Given the description of an element on the screen output the (x, y) to click on. 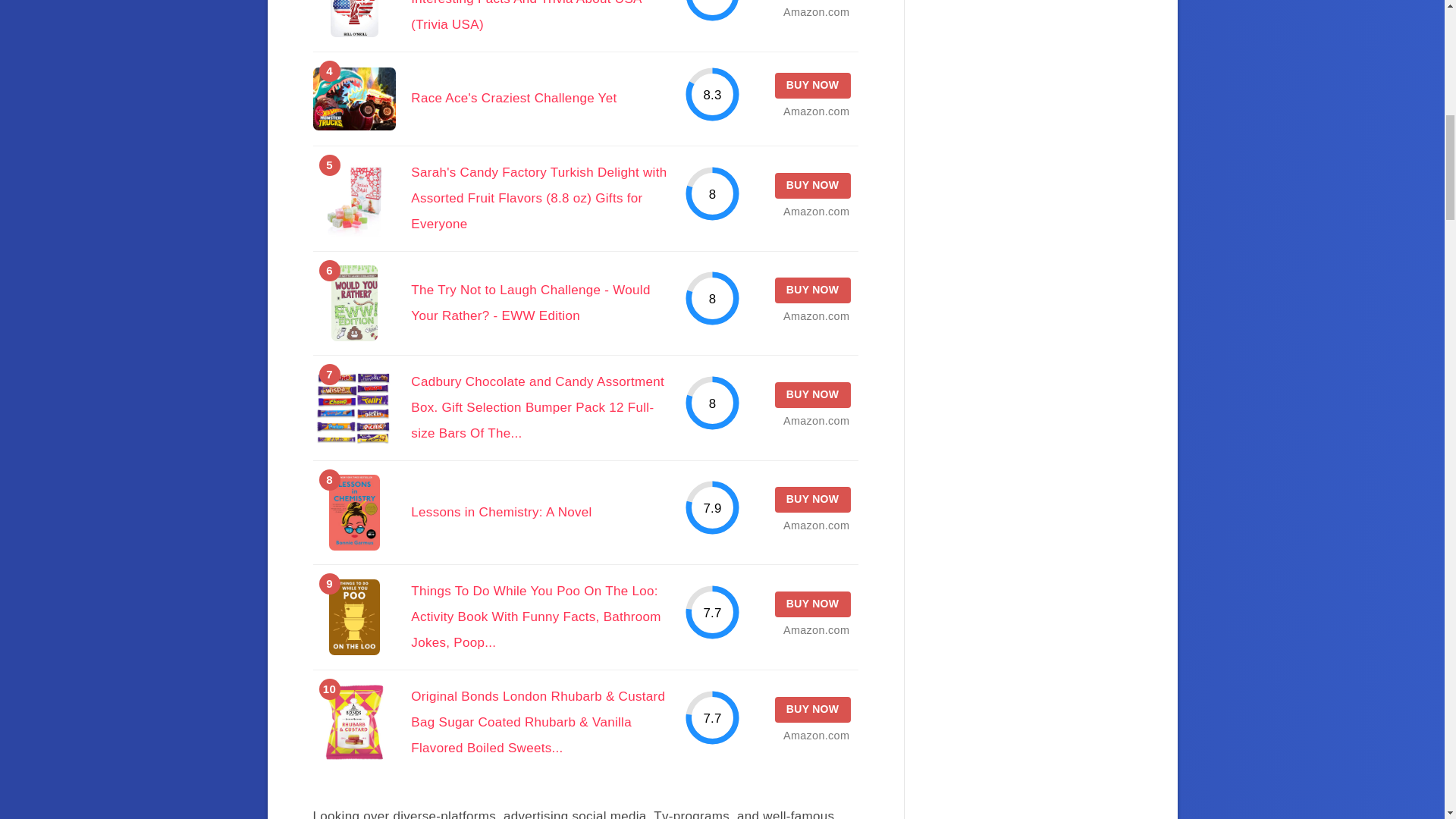
8.3 (712, 94)
BUY NOW (812, 290)
8 (712, 402)
7.7 (712, 611)
BUY NOW (812, 185)
8 (712, 193)
Race Ace's Craziest Challenge Yet (512, 97)
7.7 (712, 717)
8.6 (712, 11)
BUY NOW (812, 85)
7.9 (712, 507)
8 (712, 298)
